Given the description of an element on the screen output the (x, y) to click on. 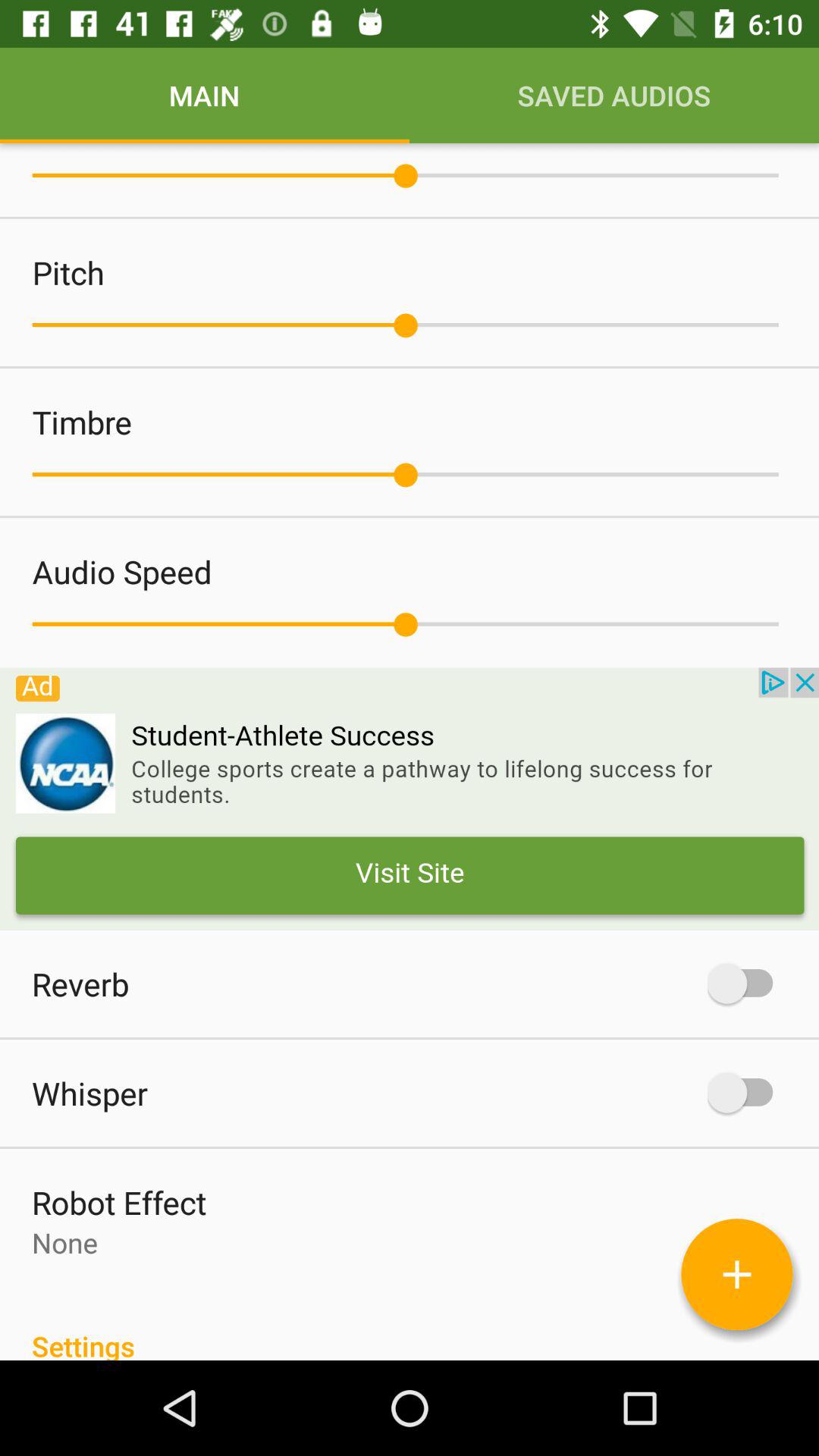
incremetn button (737, 1274)
